Given the description of an element on the screen output the (x, y) to click on. 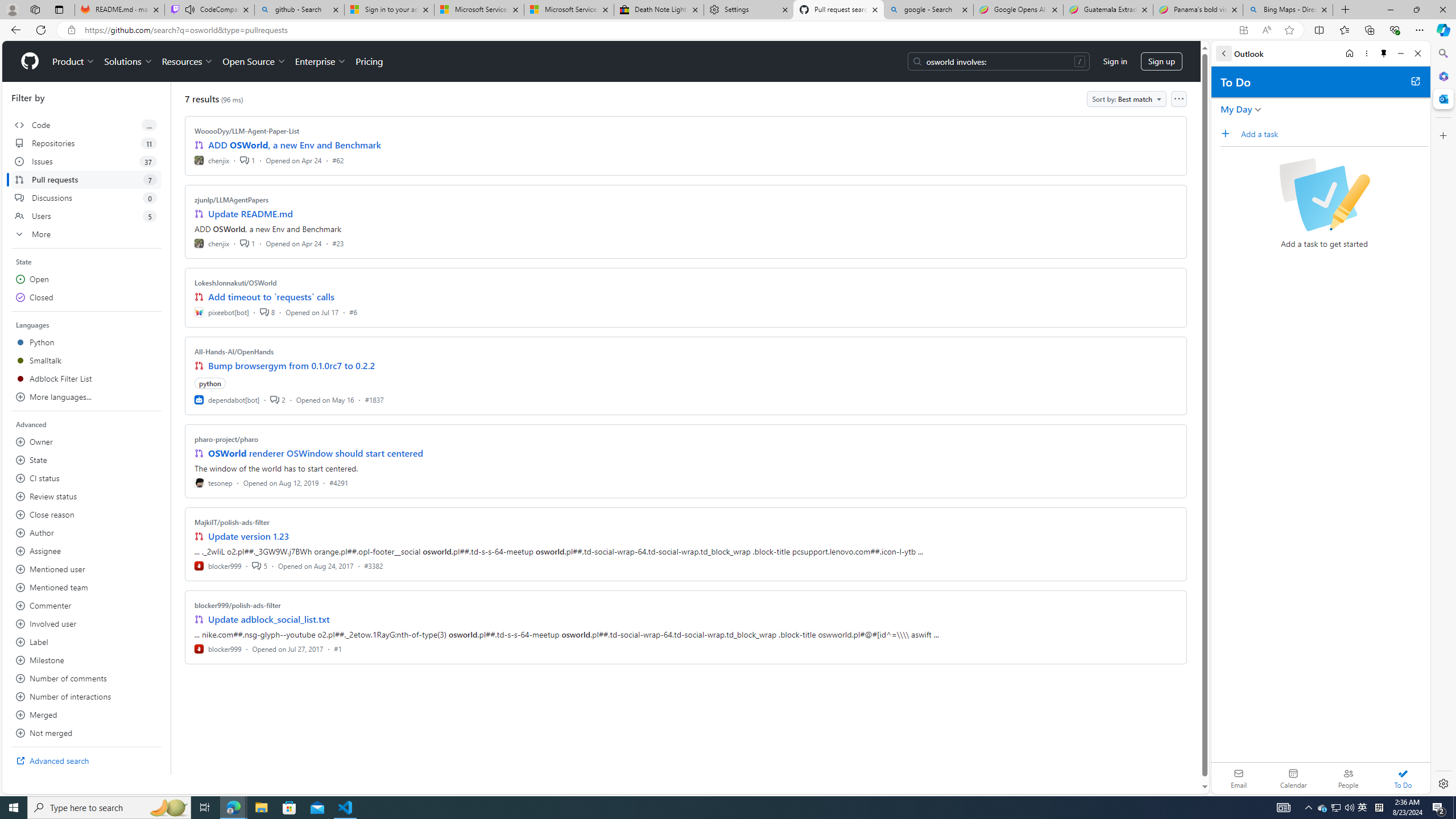
Open in new tab (1414, 80)
Open Source (254, 60)
Add a task (1334, 133)
#3382 (373, 565)
8 (267, 311)
